Given the description of an element on the screen output the (x, y) to click on. 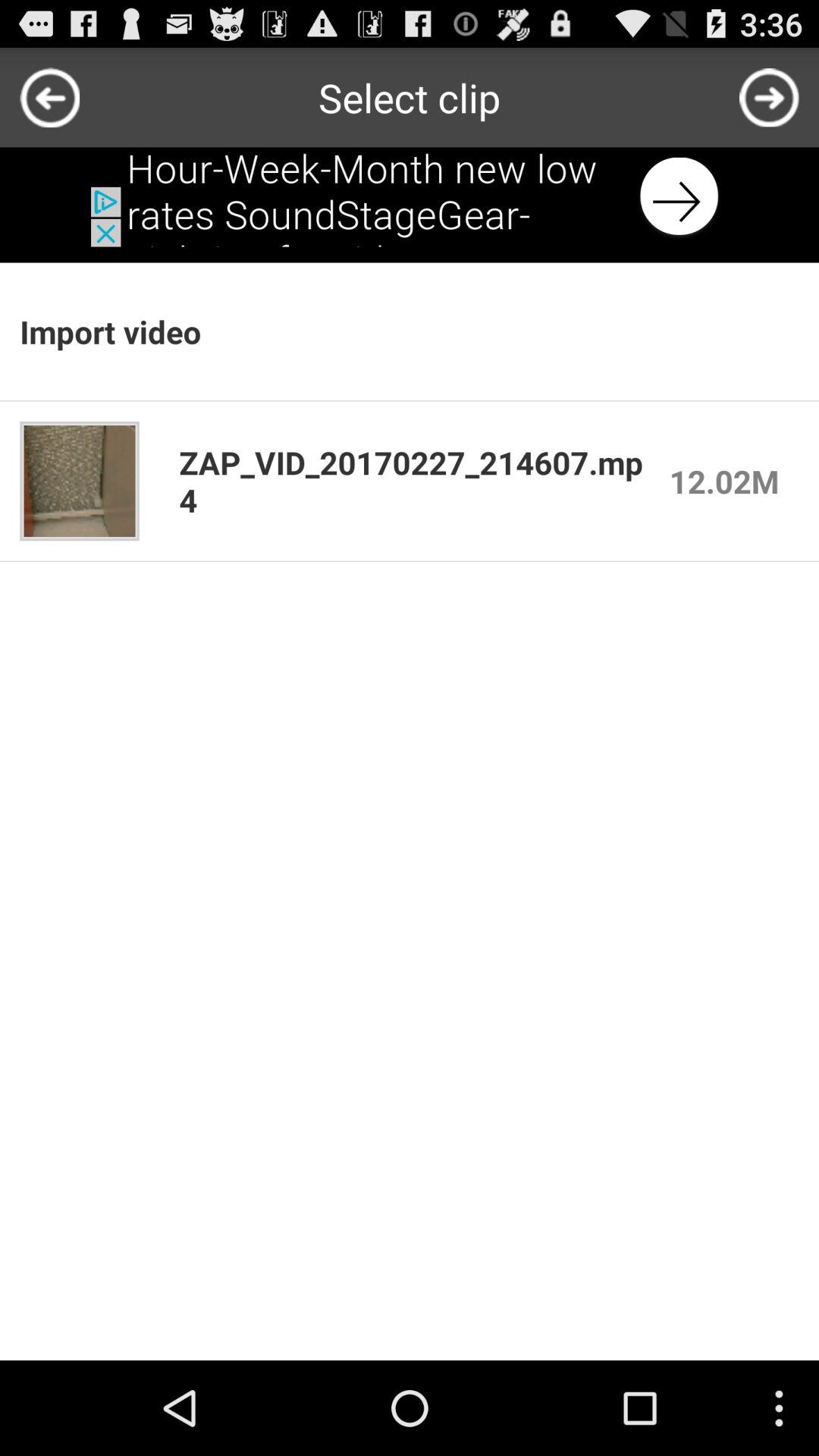
go to the next page (769, 97)
